Given the description of an element on the screen output the (x, y) to click on. 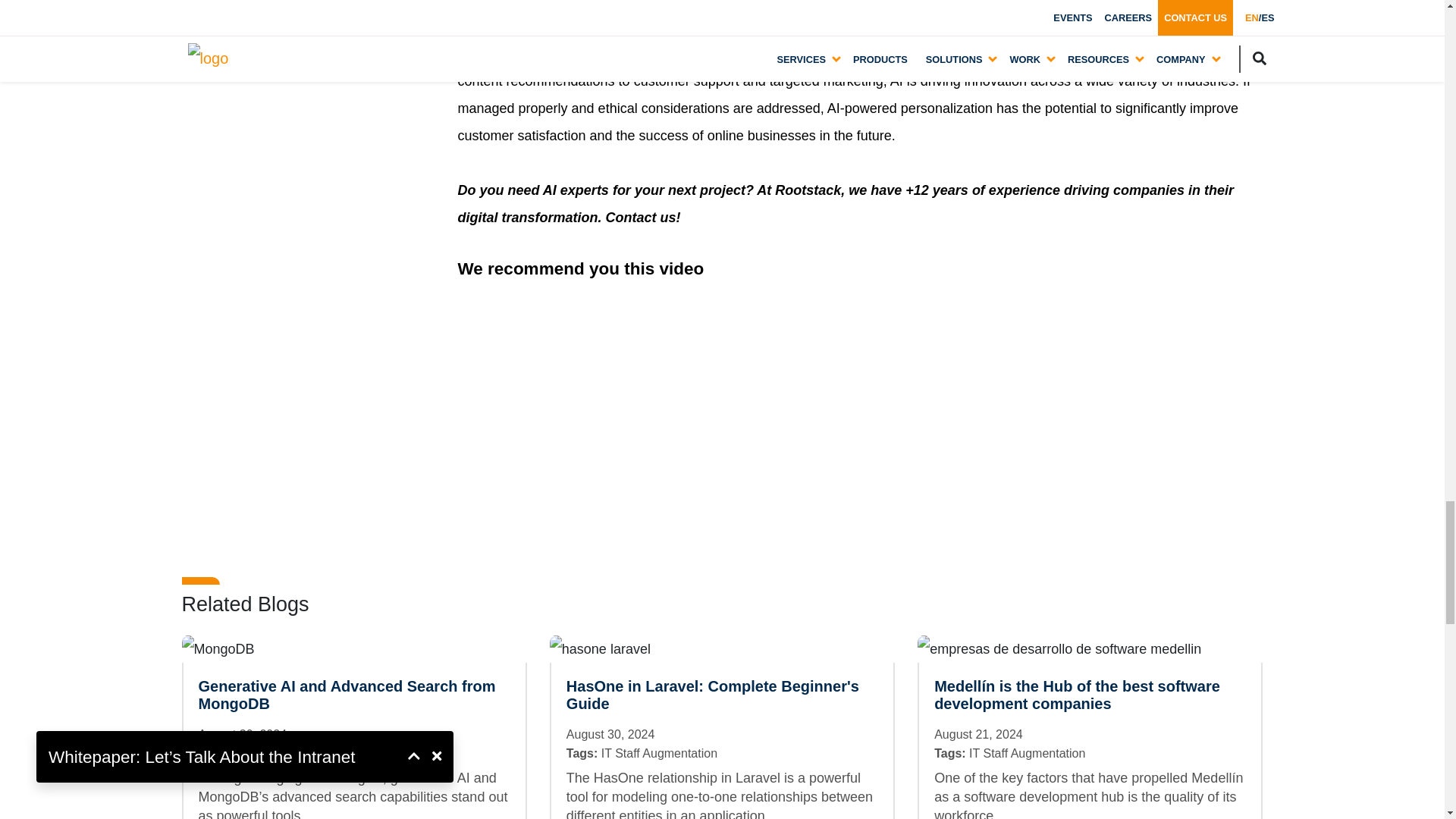
hasone laravel (600, 648)
YouTube video player (670, 404)
MongoDB (218, 648)
empresas de desarrollo de software medellin (1059, 648)
